Given the description of an element on the screen output the (x, y) to click on. 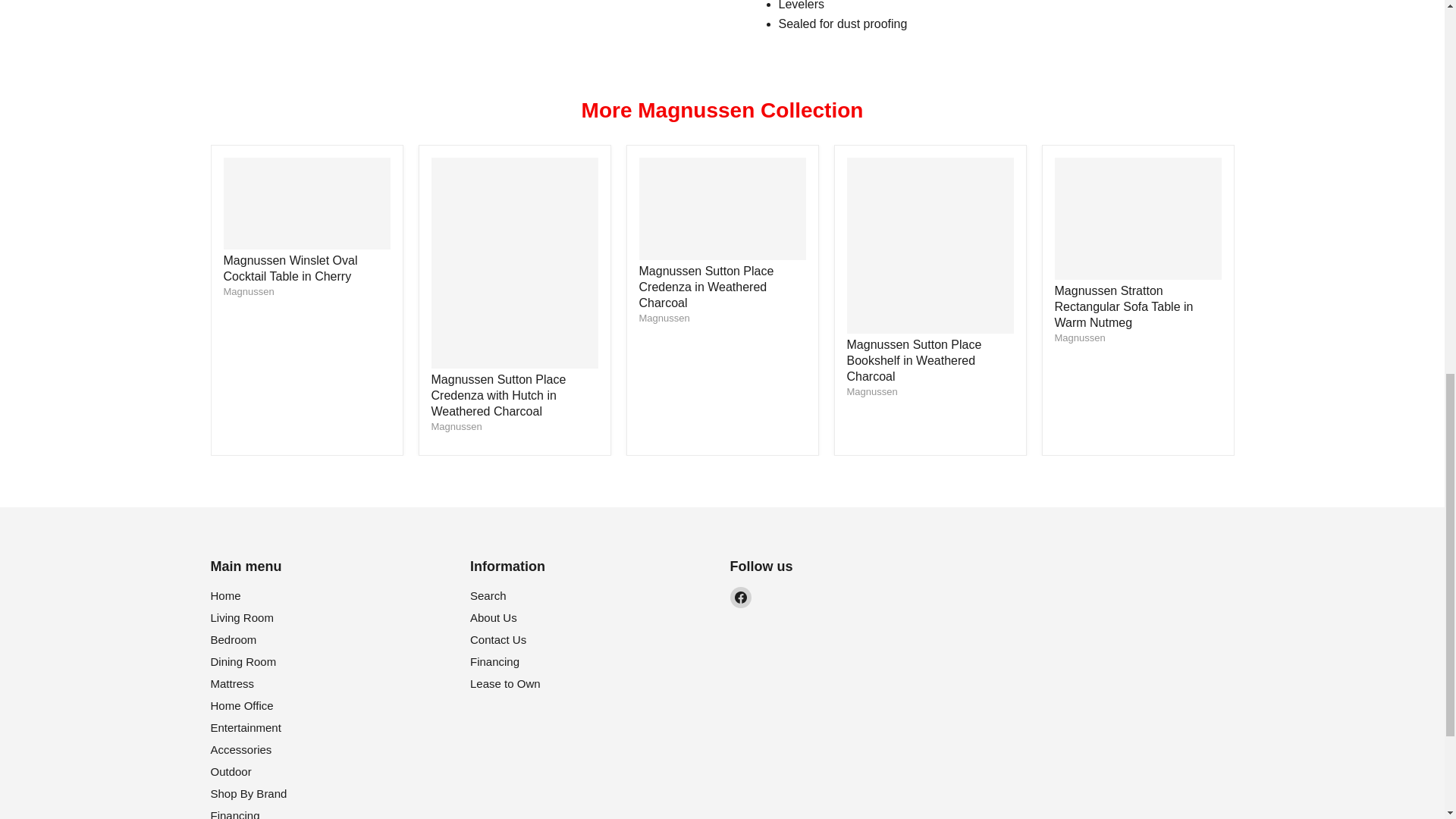
Magnussen (455, 426)
Facebook (740, 597)
Magnussen (663, 317)
Magnussen (870, 391)
Magnussen (1079, 337)
Magnussen (247, 291)
